Given the description of an element on the screen output the (x, y) to click on. 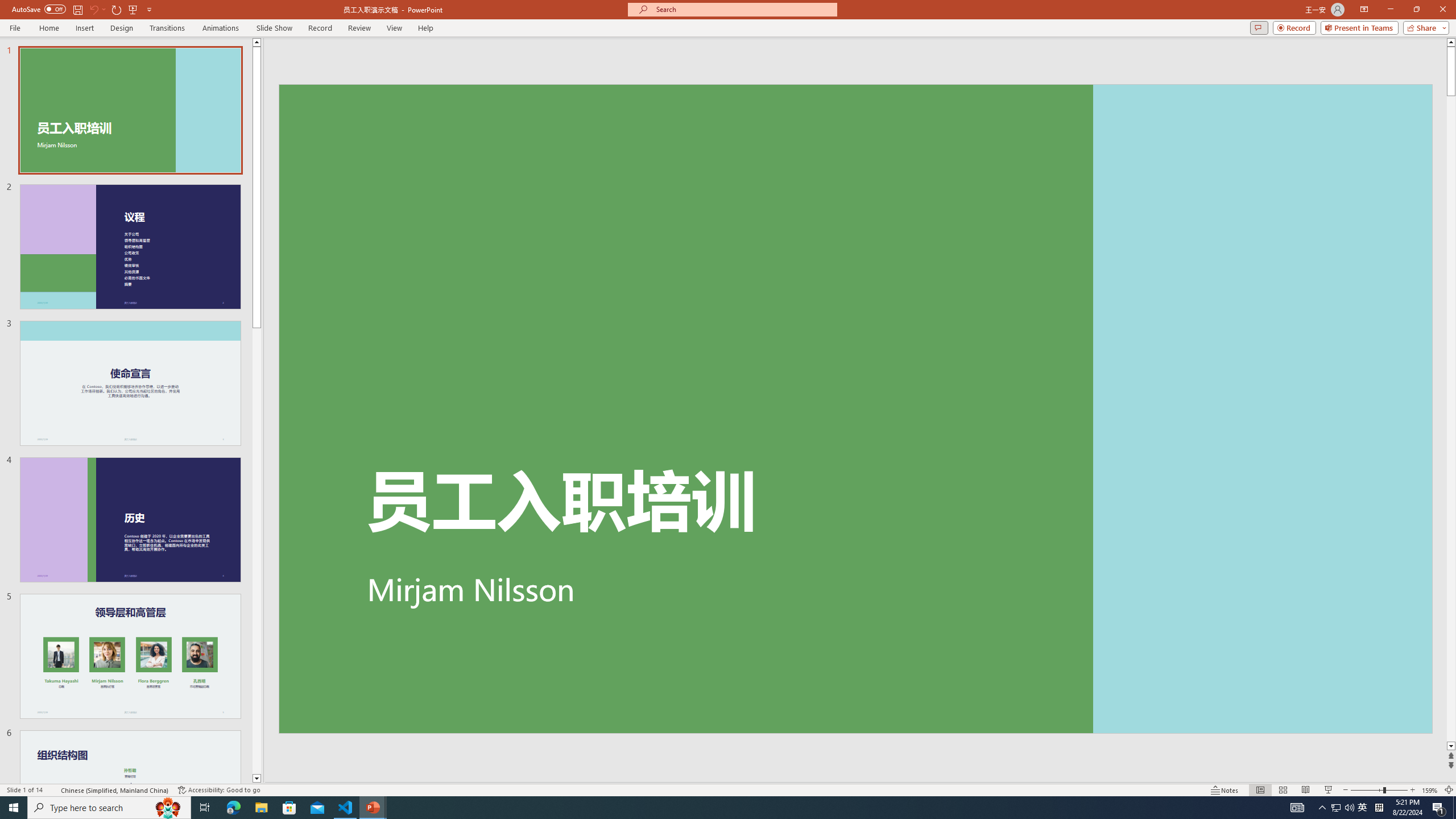
Accessibility Checker Accessibility: Good to go (218, 790)
Microsoft search (742, 9)
